Given the description of an element on the screen output the (x, y) to click on. 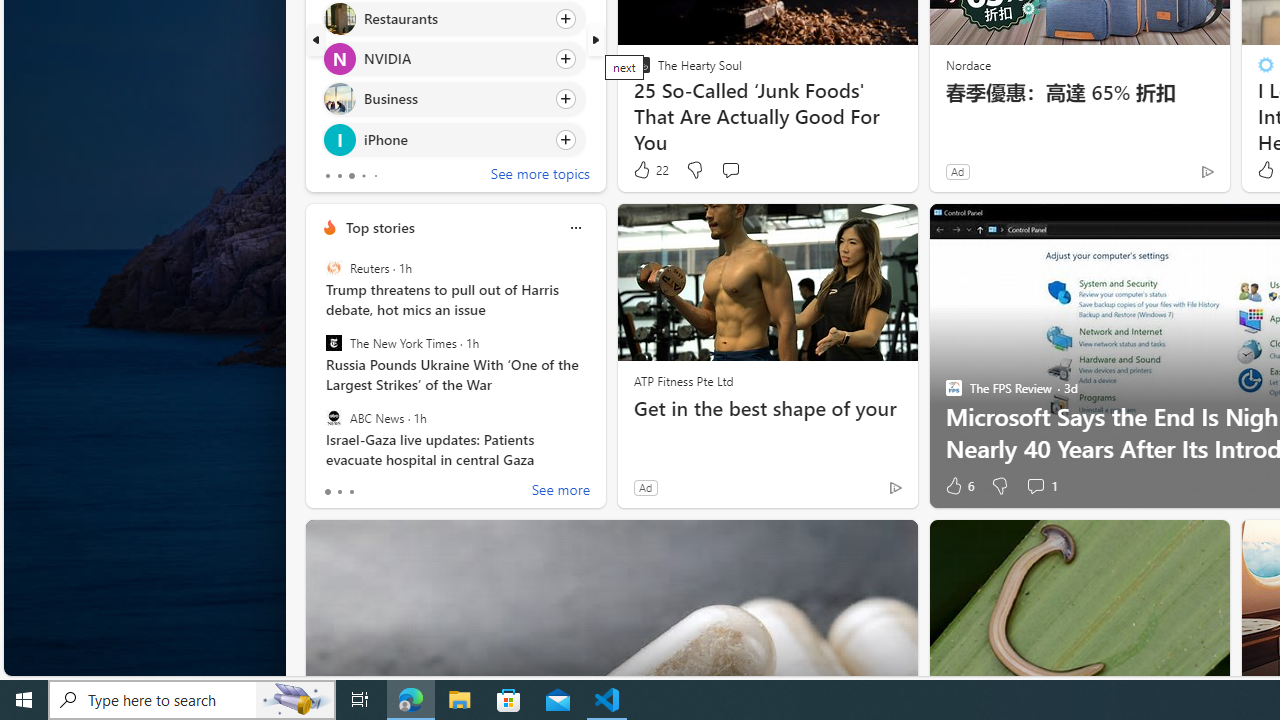
Business (338, 98)
6 Like (957, 485)
ATP Fitness Pte Ltd (683, 380)
Top stories (379, 227)
next (595, 39)
See more topics (540, 175)
previous (315, 39)
22 Like (650, 170)
Restaurants (338, 18)
tab-4 (374, 175)
